Given the description of an element on the screen output the (x, y) to click on. 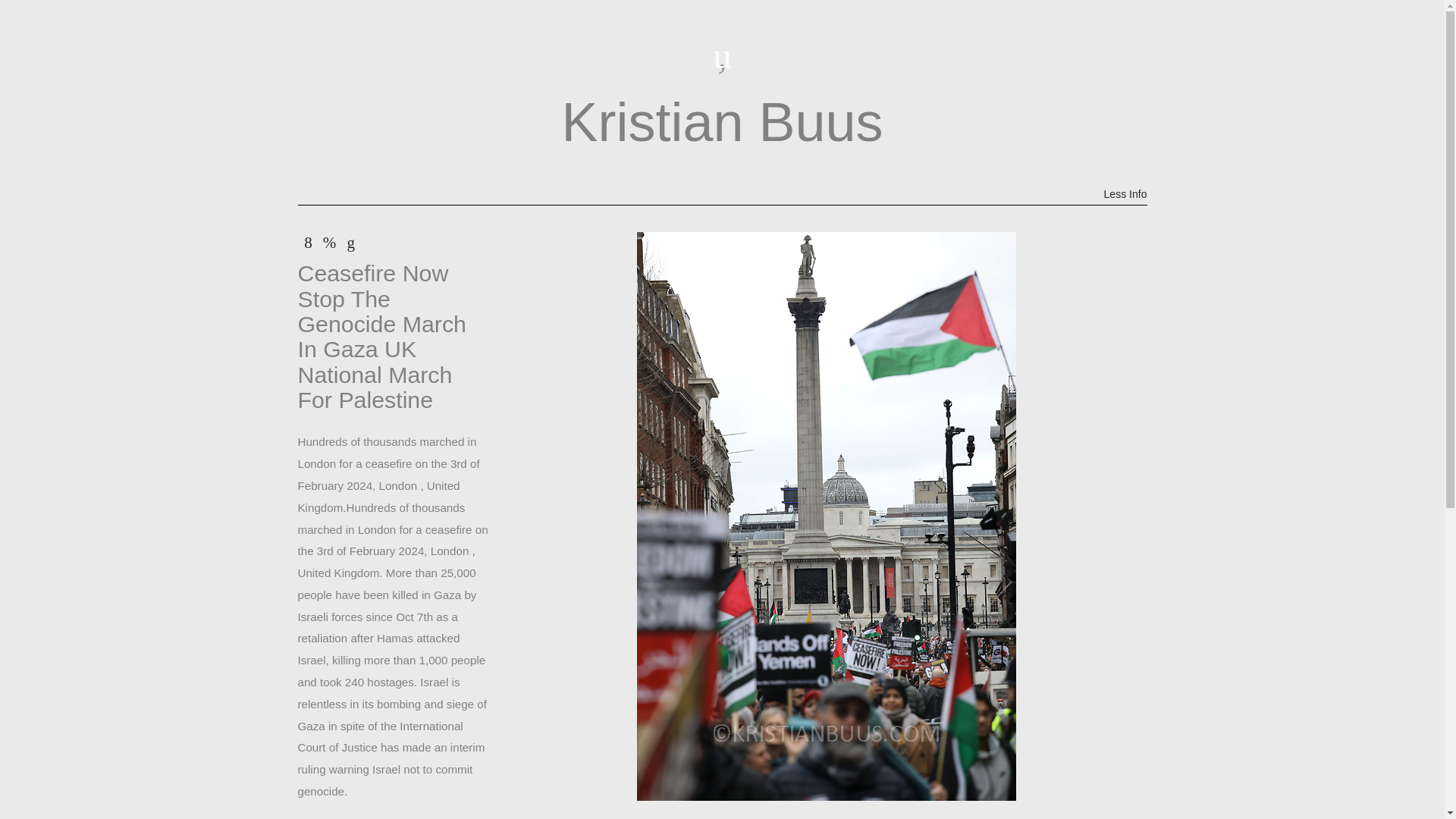
Info (1123, 193)
Add to Lightbox (329, 242)
Share This (307, 242)
Show Navigation (721, 55)
Kristian Buus (721, 126)
Download (350, 242)
x (307, 242)
Less Info (1123, 193)
Kristian Buus (721, 126)
Show Navigation (721, 55)
